Given the description of an element on the screen output the (x, y) to click on. 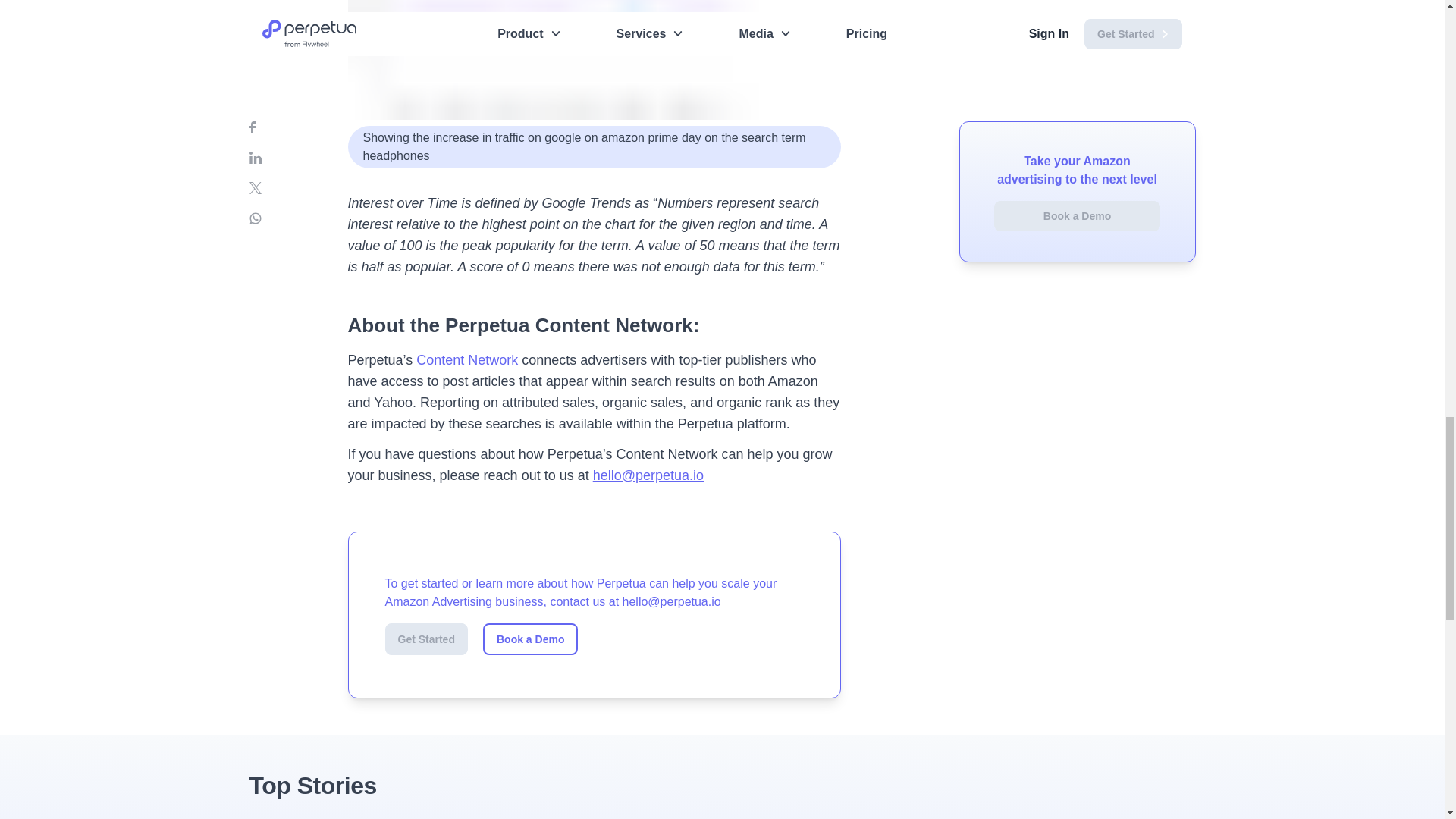
Content Network (467, 359)
Book a Demo (530, 639)
Get Started (426, 639)
